Given the description of an element on the screen output the (x, y) to click on. 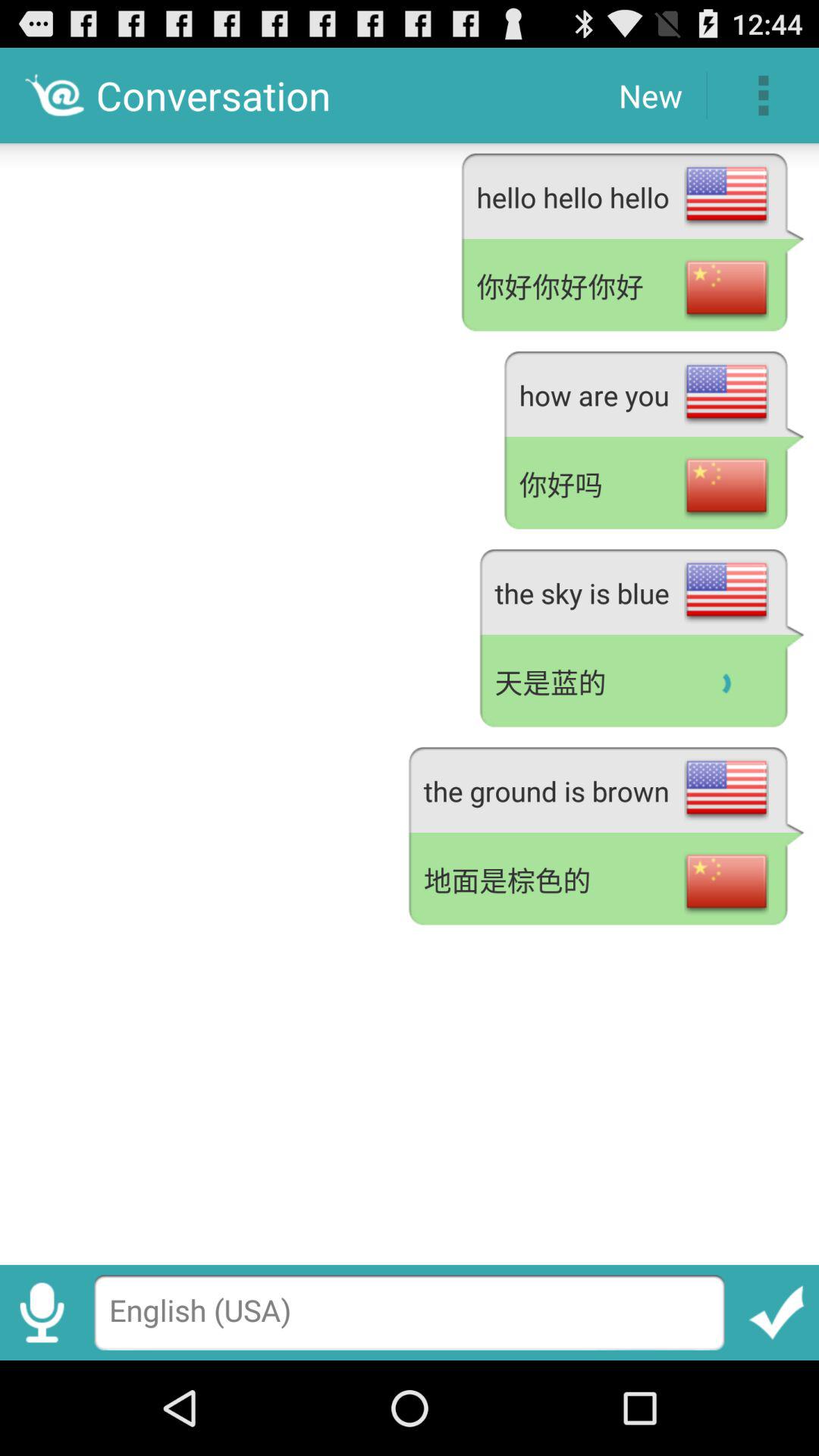
voice recording (42, 1312)
